Given the description of an element on the screen output the (x, y) to click on. 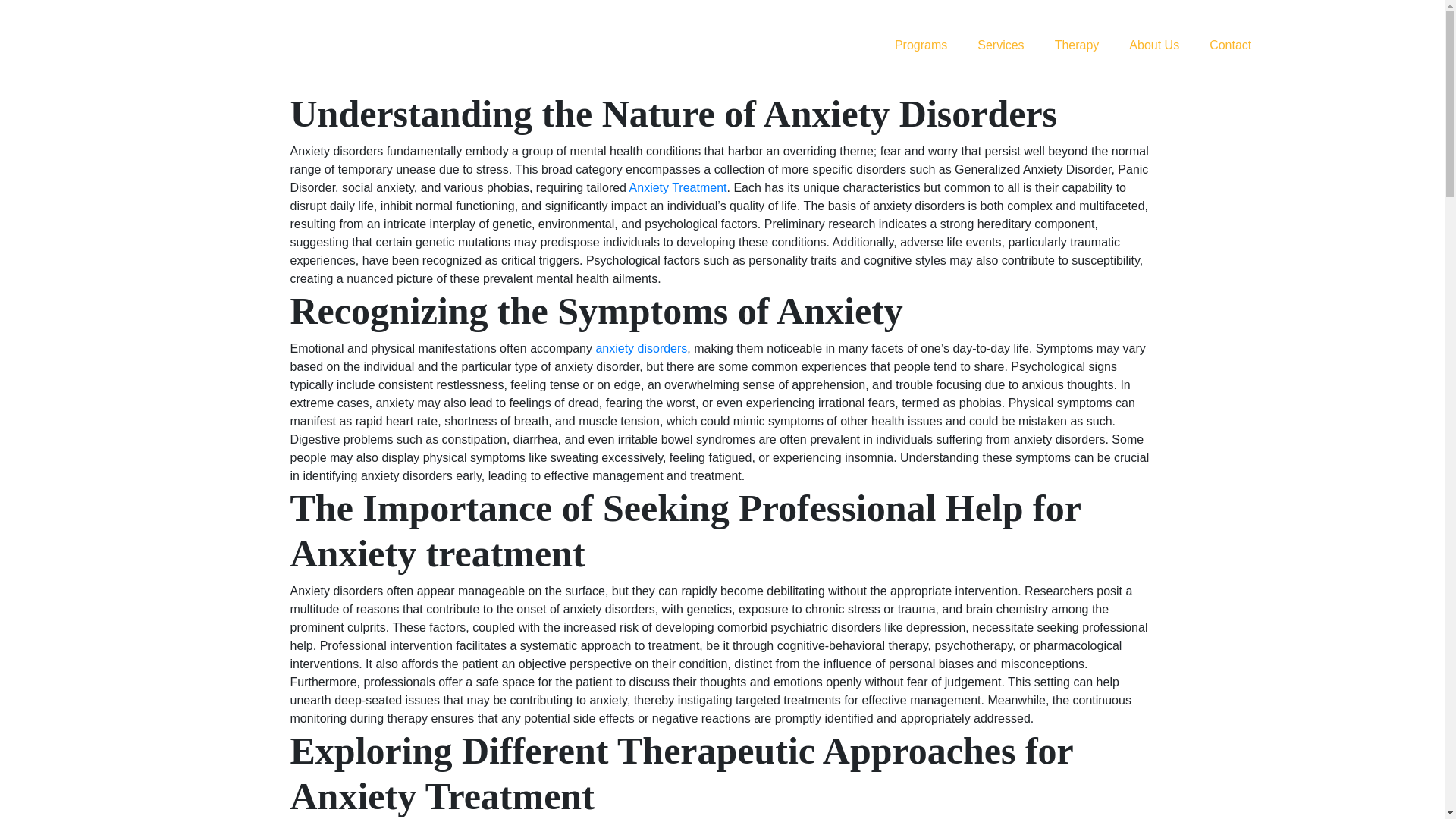
866 485 0905 (1350, 45)
Services (999, 45)
Anxiety Disorder Treatment (677, 187)
About Us (1154, 45)
Contact (1229, 45)
Programs (921, 45)
Therapy (1076, 45)
